Given the description of an element on the screen output the (x, y) to click on. 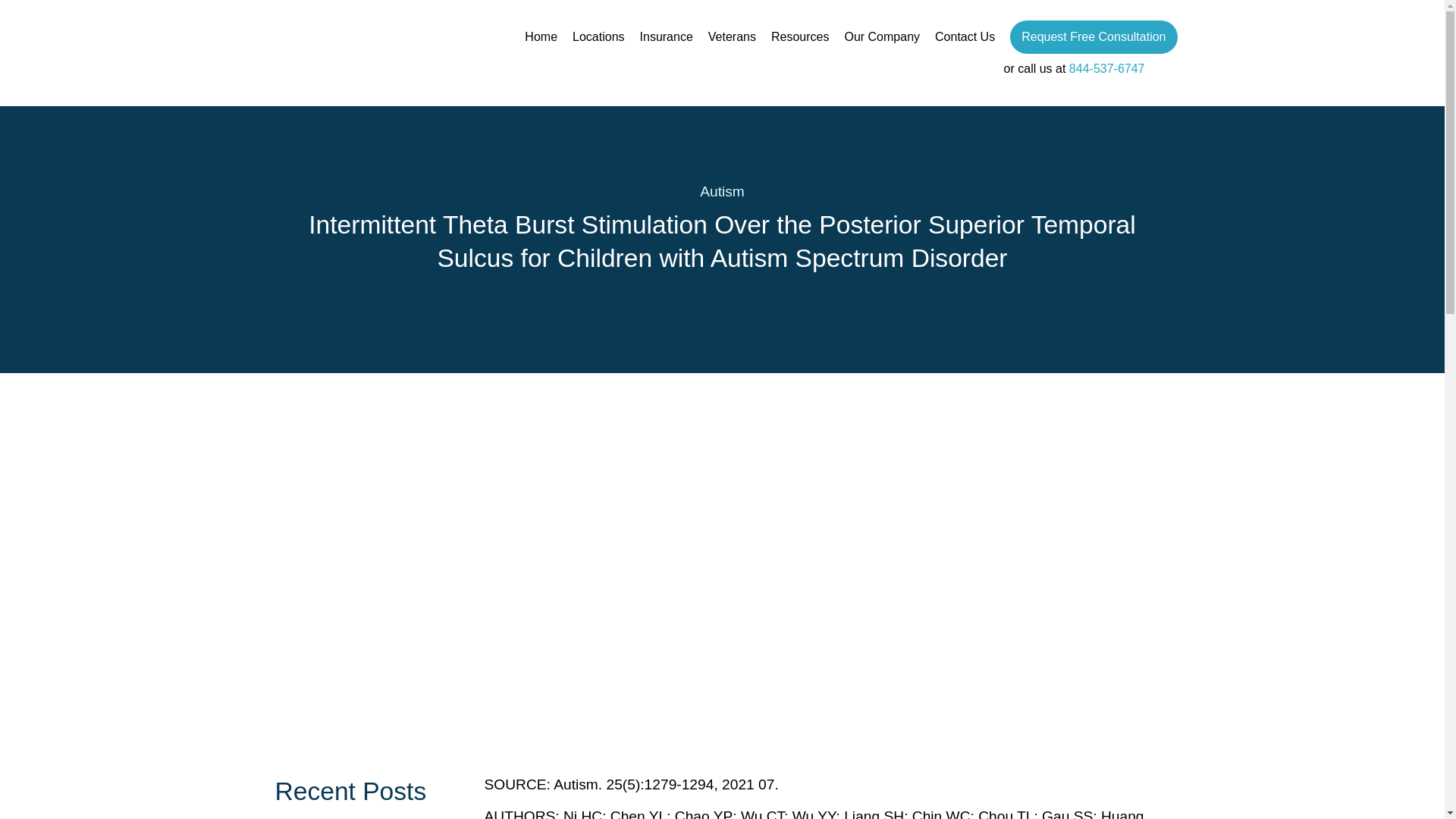
Locations (598, 36)
Resources (799, 36)
Insurance (666, 36)
Autism (722, 191)
Veterans (731, 36)
Contact Us (964, 36)
Our Company (882, 36)
Request Free Consultation (1093, 37)
844-537-6747 (1106, 68)
